Given the description of an element on the screen output the (x, y) to click on. 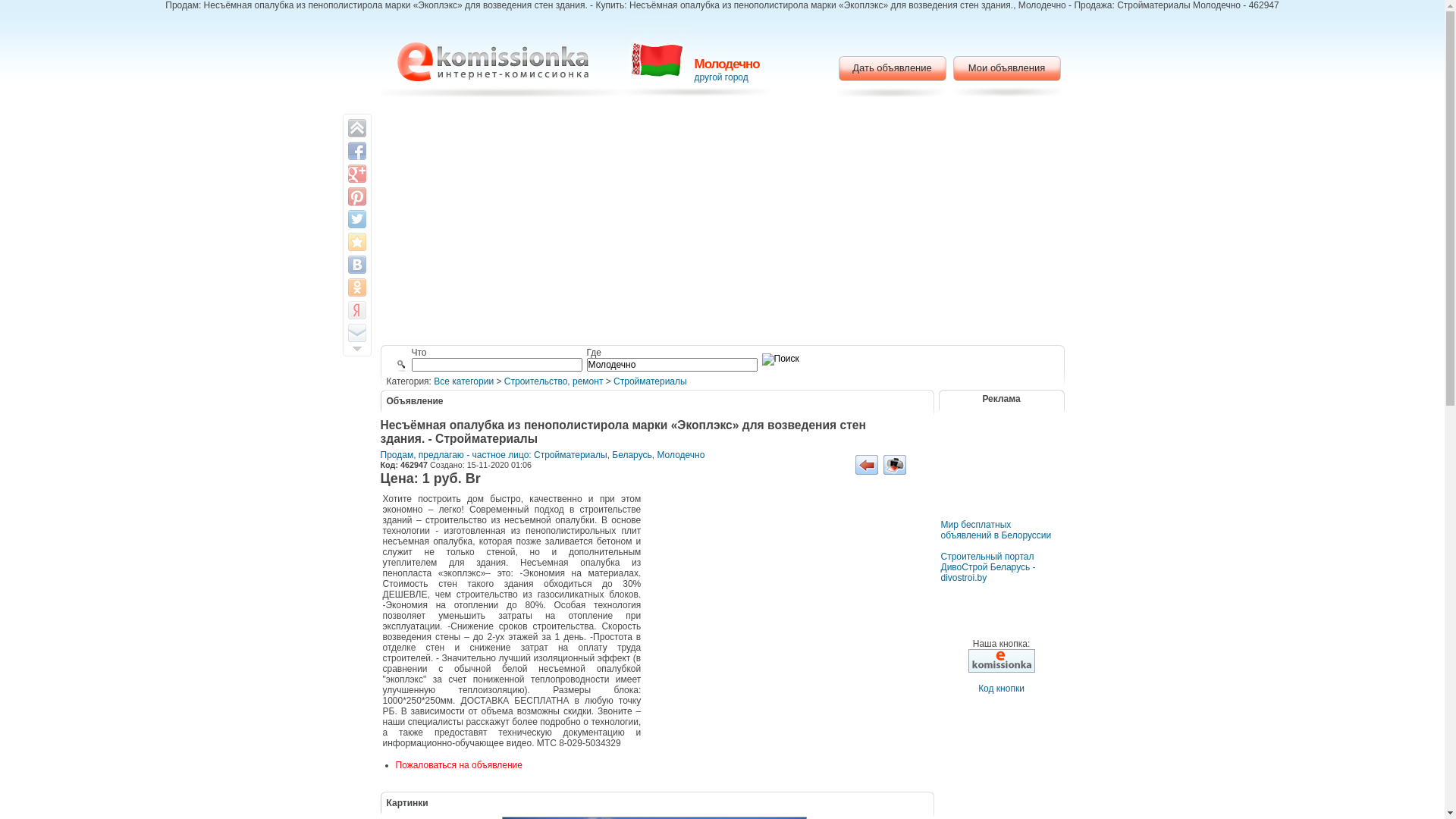
Back on top Element type: hover (356, 128)
Save to Browser Favorites Element type: hover (356, 241)
Advertisement Element type: hover (1000, 474)
Advertisement Element type: hover (722, 223)
Email this to a friend Element type: hover (356, 332)
Share on Facebook Element type: hover (356, 150)
Advertisement Element type: hover (789, 595)
Share on Twitter Element type: hover (356, 219)
Share on Google+ Element type: hover (356, 173)
Pin It Element type: hover (356, 196)
Save to Yandex Bookmarks Element type: hover (356, 310)
Share to Odnoklassniki.ru Element type: hover (356, 287)
Share on VK Element type: hover (356, 264)
